Given the description of an element on the screen output the (x, y) to click on. 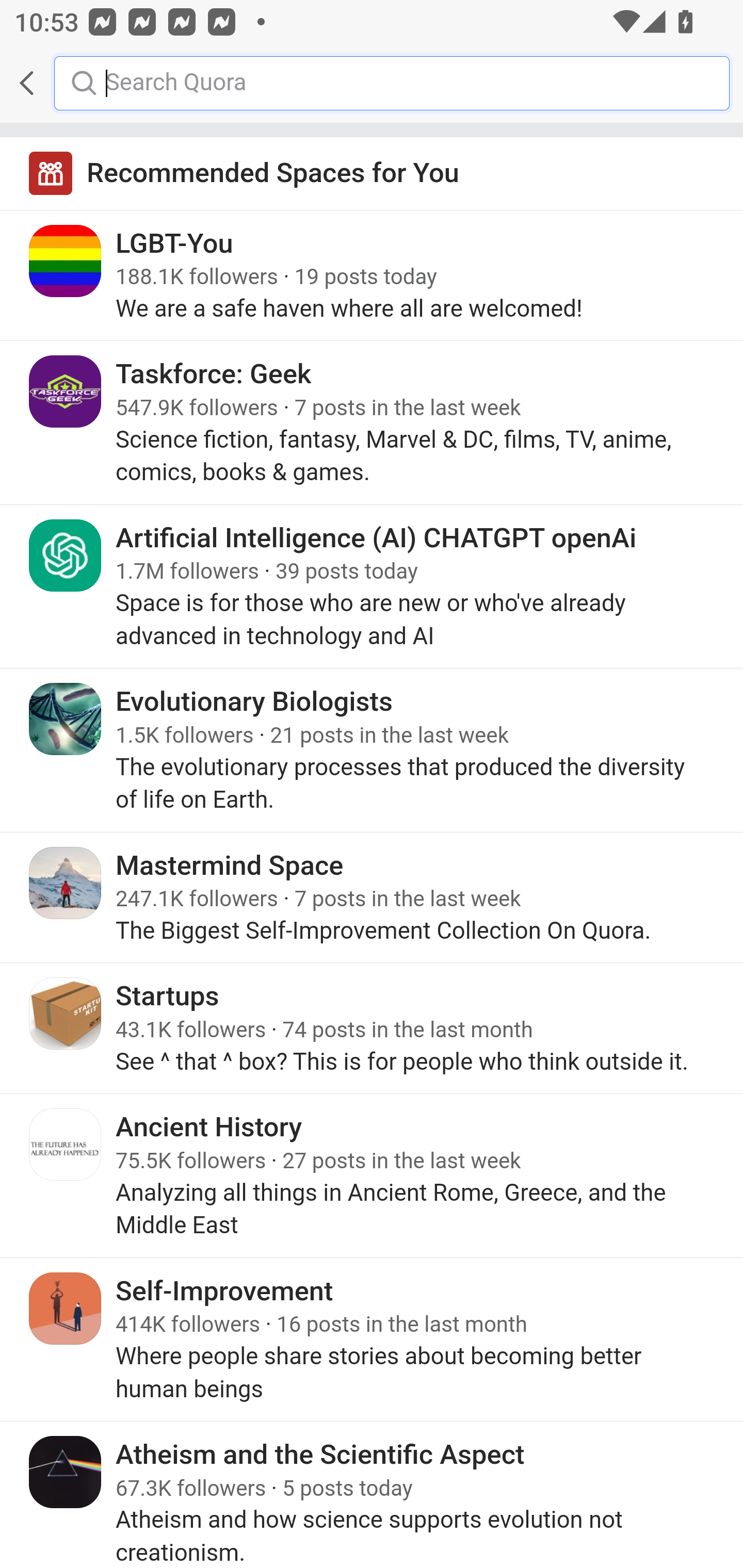
Me Home Search Add (371, 82)
Icon for LGBT-You (65, 260)
Icon for Taskforce: Geek (65, 391)
Icon for Evolutionary Biologists (65, 718)
Icon for Mastermind Space (65, 882)
Icon for Startups (65, 1013)
Icon for Ancient History (65, 1145)
Icon for Self-Improvement (65, 1308)
Icon for Atheism and the Scientific Aspect (65, 1471)
